Given the description of an element on the screen output the (x, y) to click on. 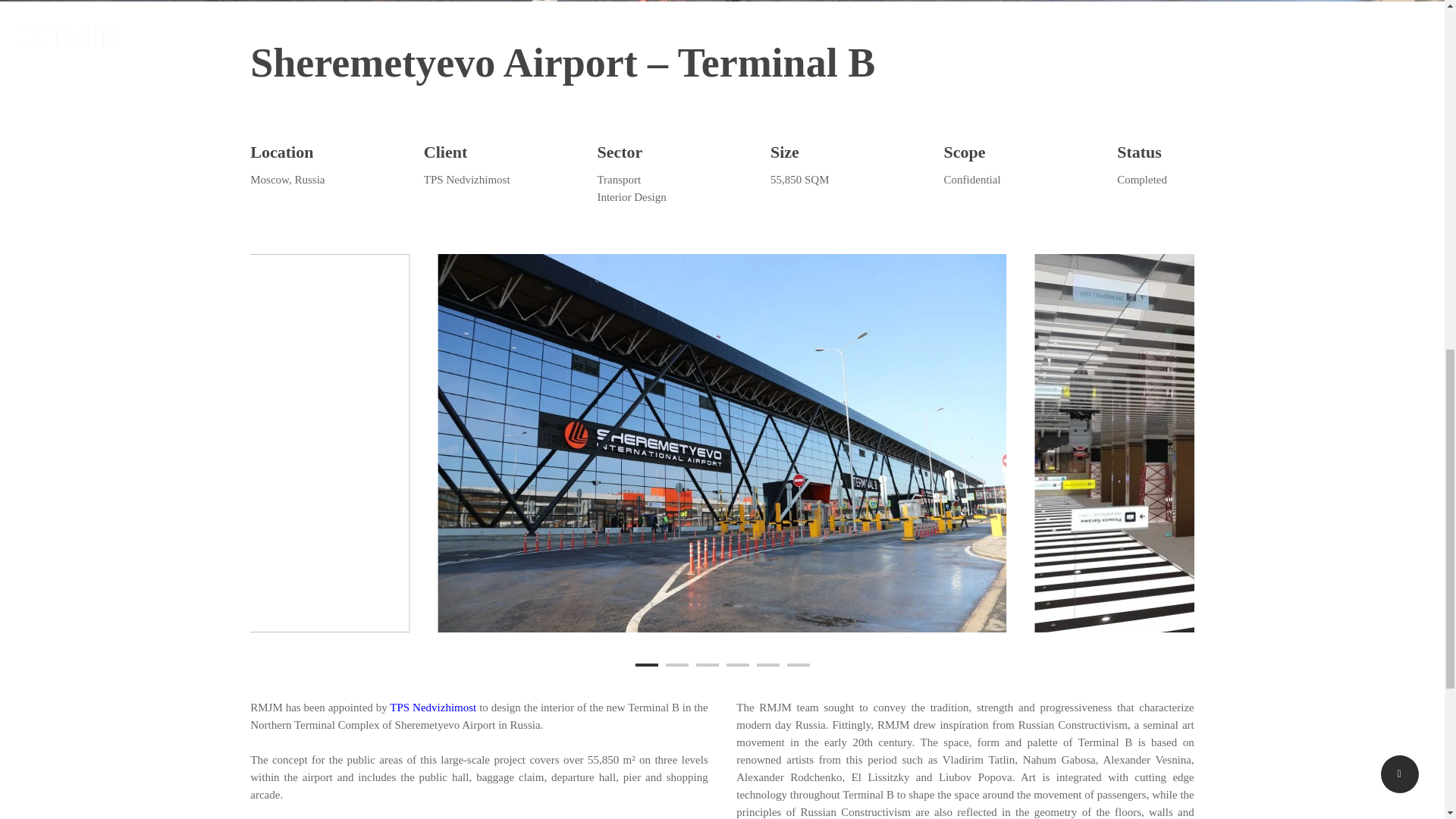
TPS Nedvizhimost (433, 707)
